Given the description of an element on the screen output the (x, y) to click on. 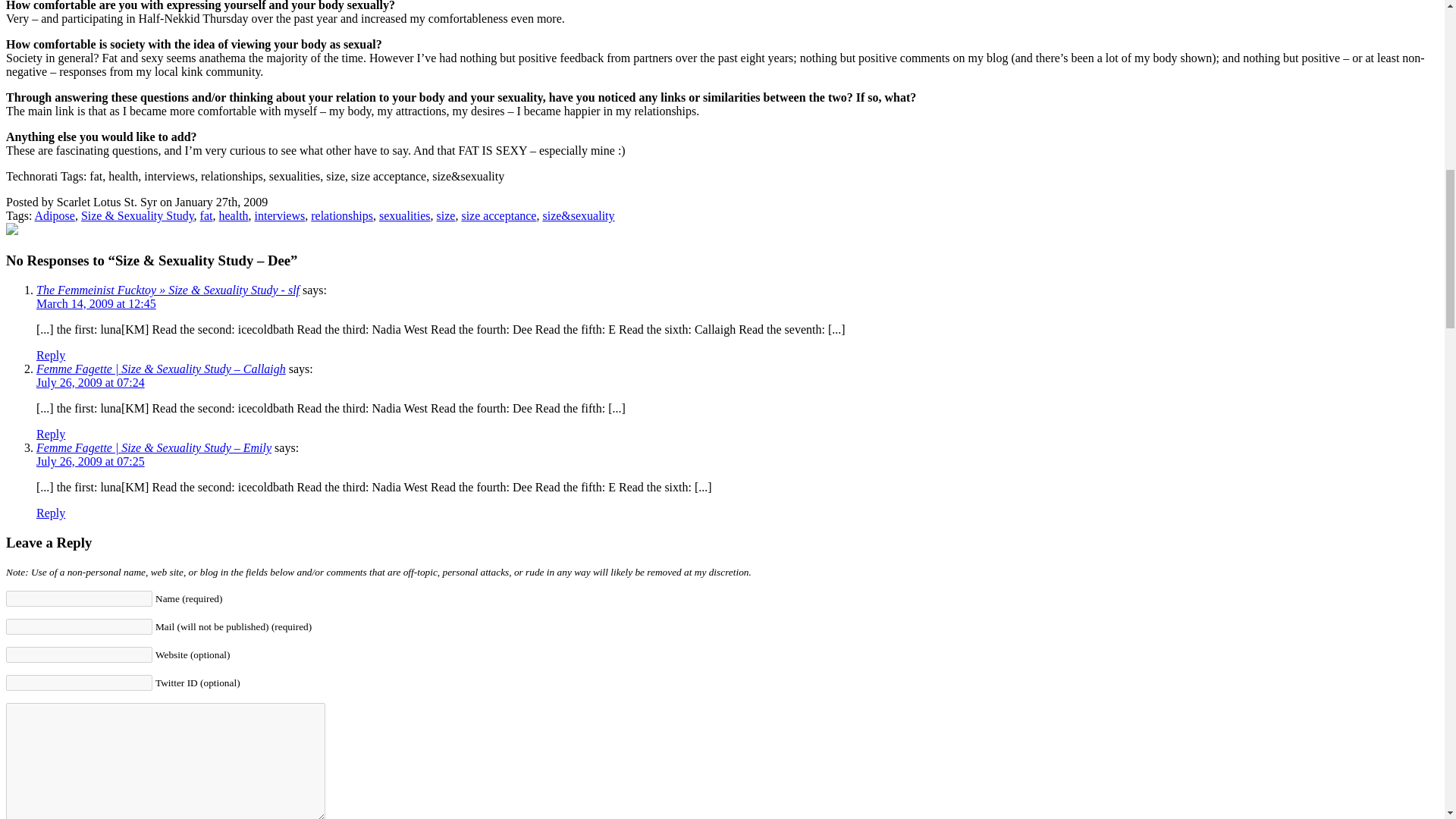
fat (206, 215)
View all posts in Adipose (54, 215)
health (232, 215)
size acceptance (498, 215)
interviews (279, 215)
Adipose (54, 215)
relationships (341, 215)
Reply (50, 512)
Reply (50, 433)
March 14, 2009 at 12:45 (95, 303)
